Given the description of an element on the screen output the (x, y) to click on. 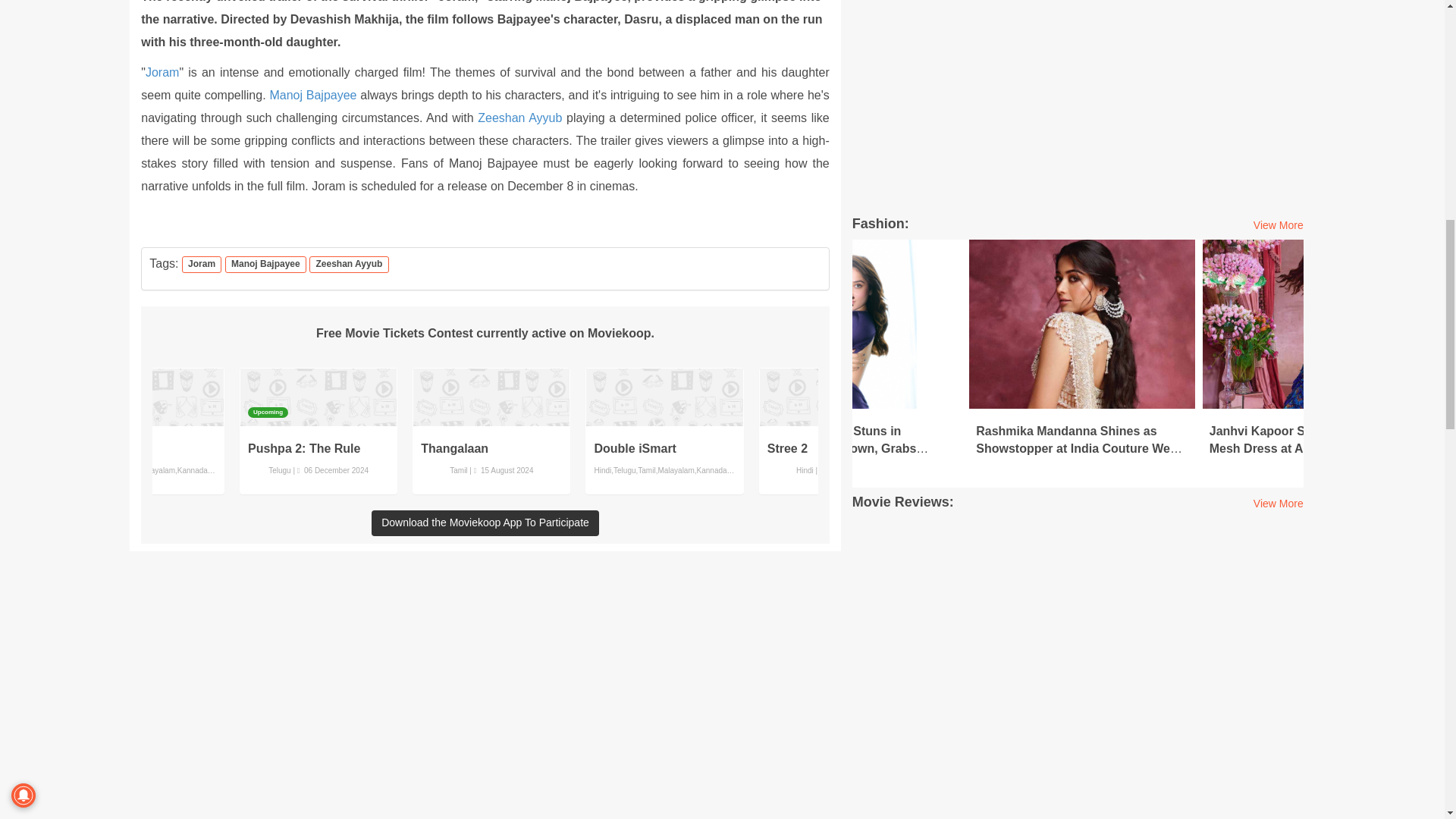
Zeeshan Ayyub (519, 117)
Joram (162, 72)
Manoj Bajpayee (312, 94)
